Given the description of an element on the screen output the (x, y) to click on. 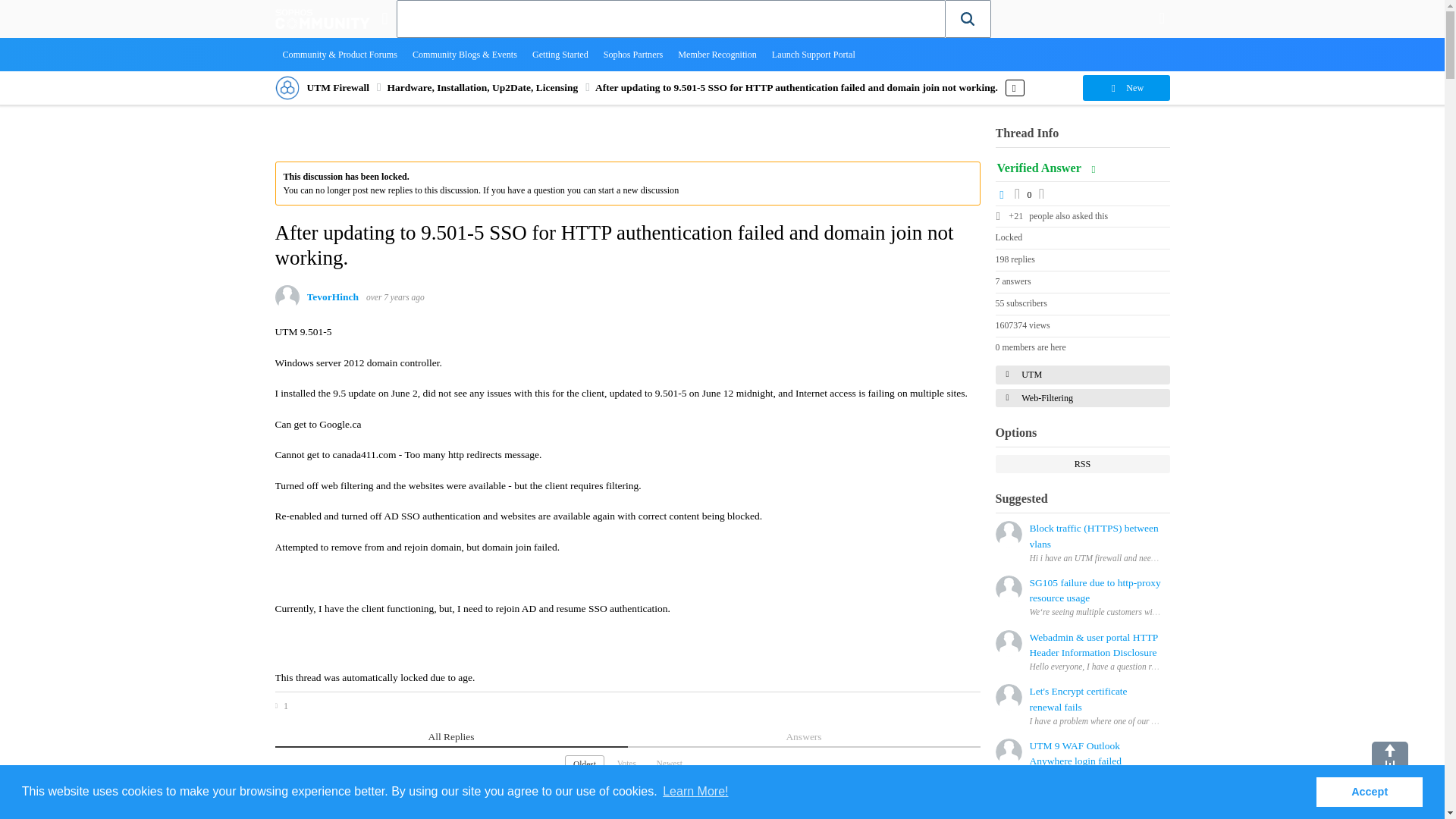
Launch Support Portal (813, 54)
Sophos Partners (633, 54)
Home (322, 18)
Insert a query. Press enter to send (670, 18)
Accept (1369, 791)
User (1161, 17)
Hardware, Installation, Up2Date, Licensing (482, 87)
Join or sign in (1161, 17)
Learn More! (695, 791)
UTM Firewall (337, 87)
Member Recognition (716, 54)
Groups (384, 18)
Getting Started (559, 54)
Site (384, 18)
